Given the description of an element on the screen output the (x, y) to click on. 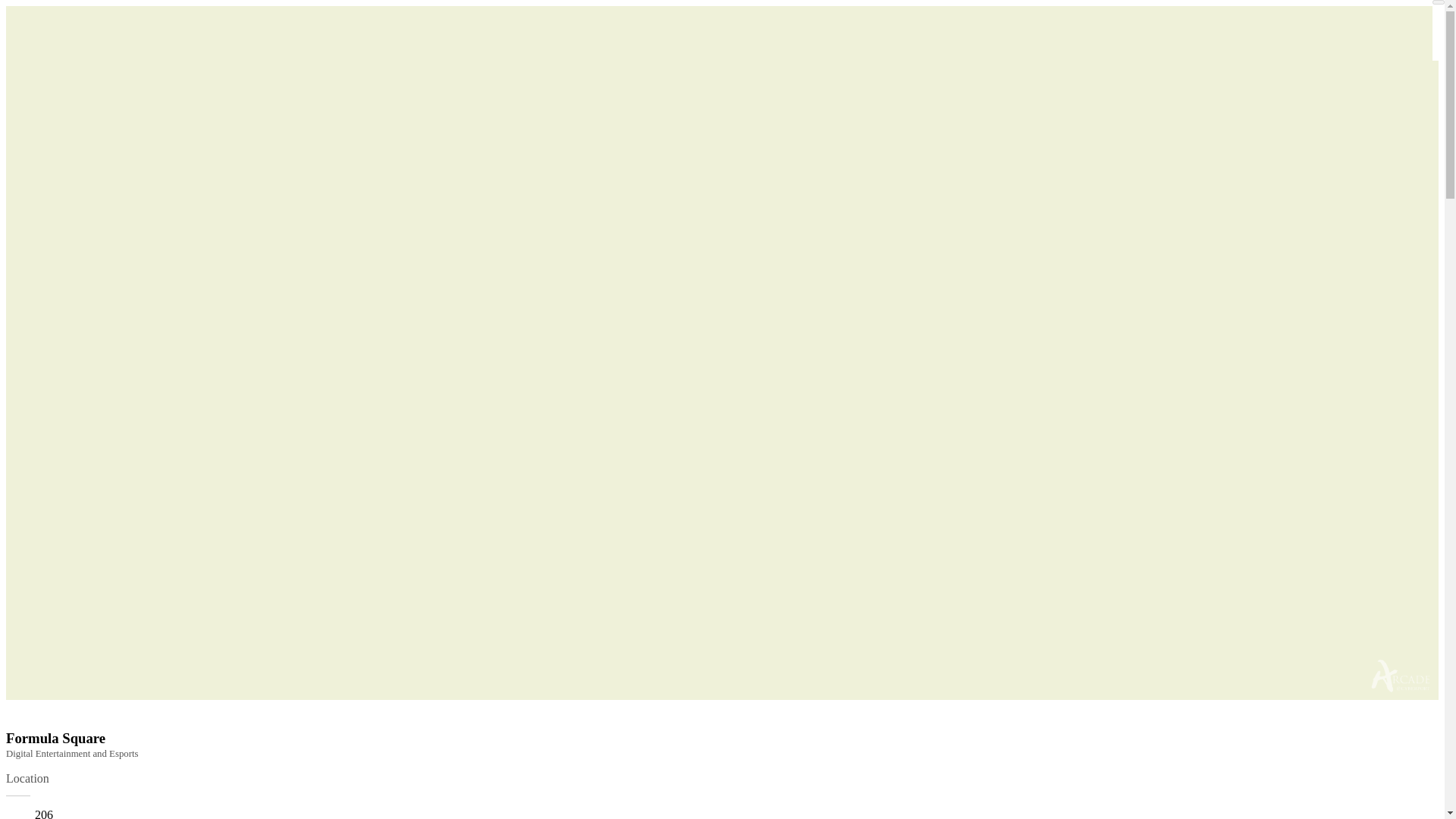
Next (721, 718)
Previous (721, 699)
